Given the description of an element on the screen output the (x, y) to click on. 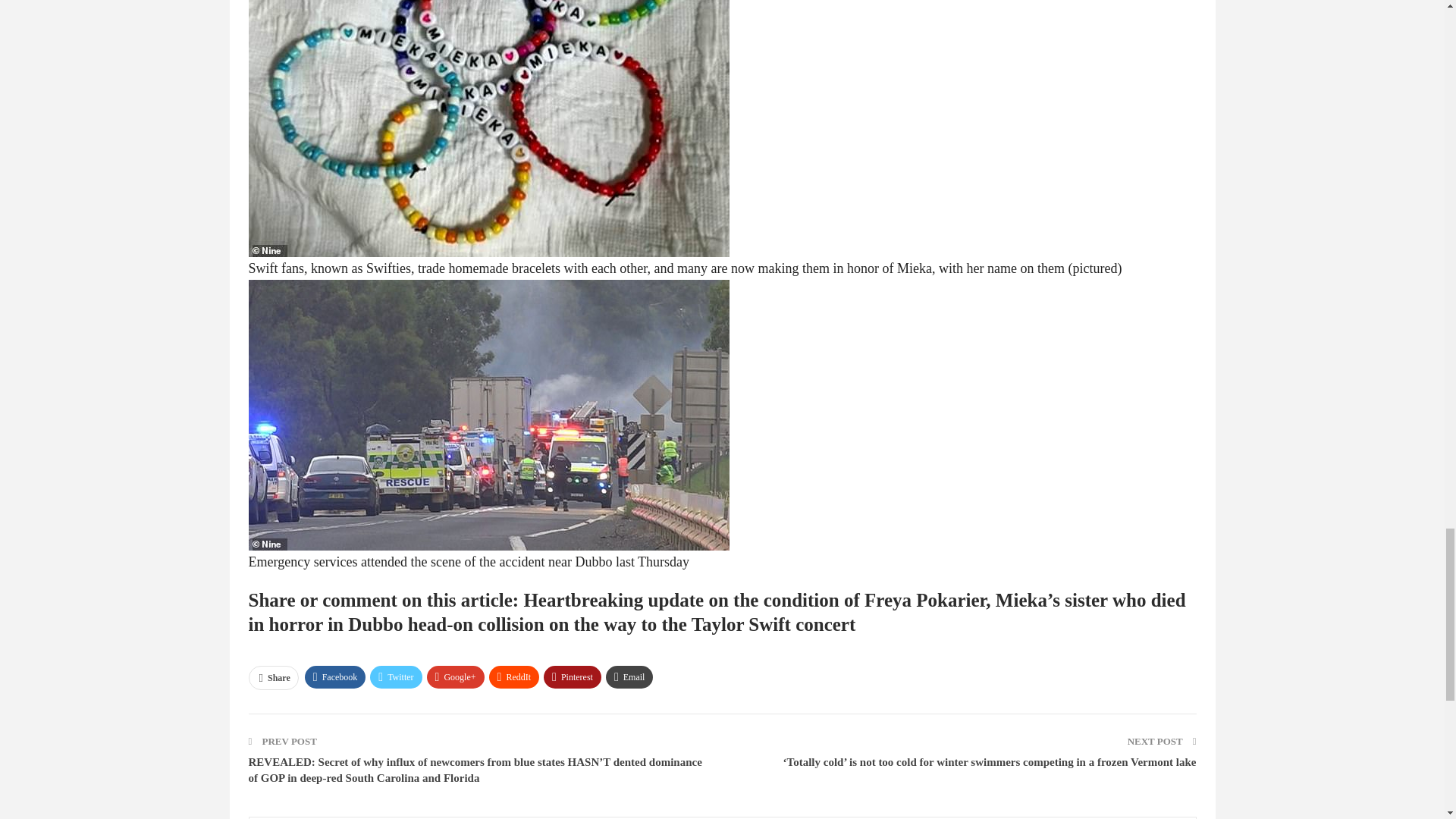
Facebook (335, 676)
ReddIt (514, 676)
Twitter (395, 676)
Pinterest (572, 676)
